Given the description of an element on the screen output the (x, y) to click on. 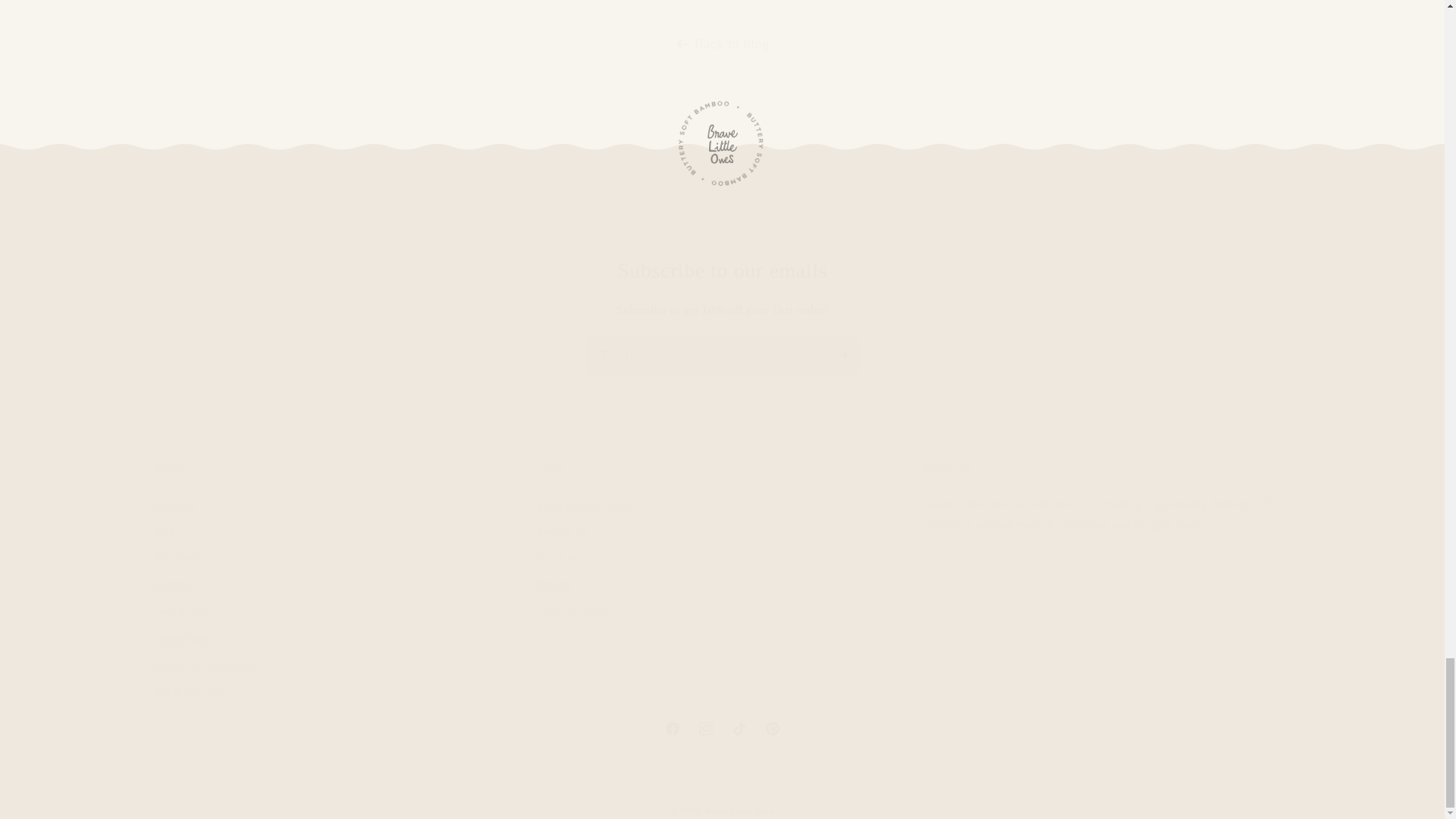
Email (721, 728)
Subscribe to our emails (722, 355)
